Given the description of an element on the screen output the (x, y) to click on. 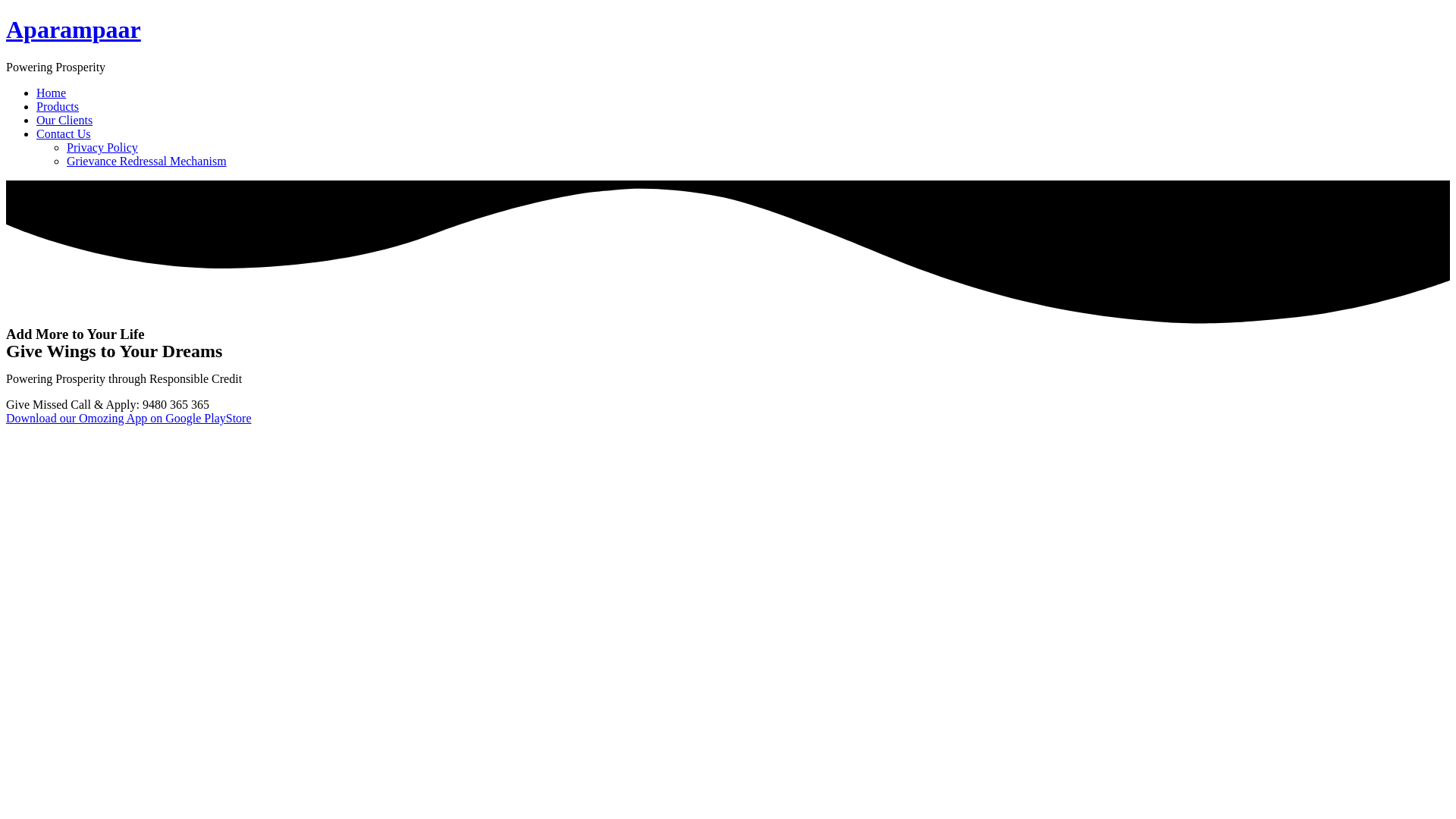
Contact Us (63, 133)
Home (50, 92)
Grievance Redressal Mechanism (146, 160)
Products (57, 106)
Aparampaar (73, 29)
Home (73, 29)
Privacy Policy (102, 146)
Our Clients (64, 119)
